Given the description of an element on the screen output the (x, y) to click on. 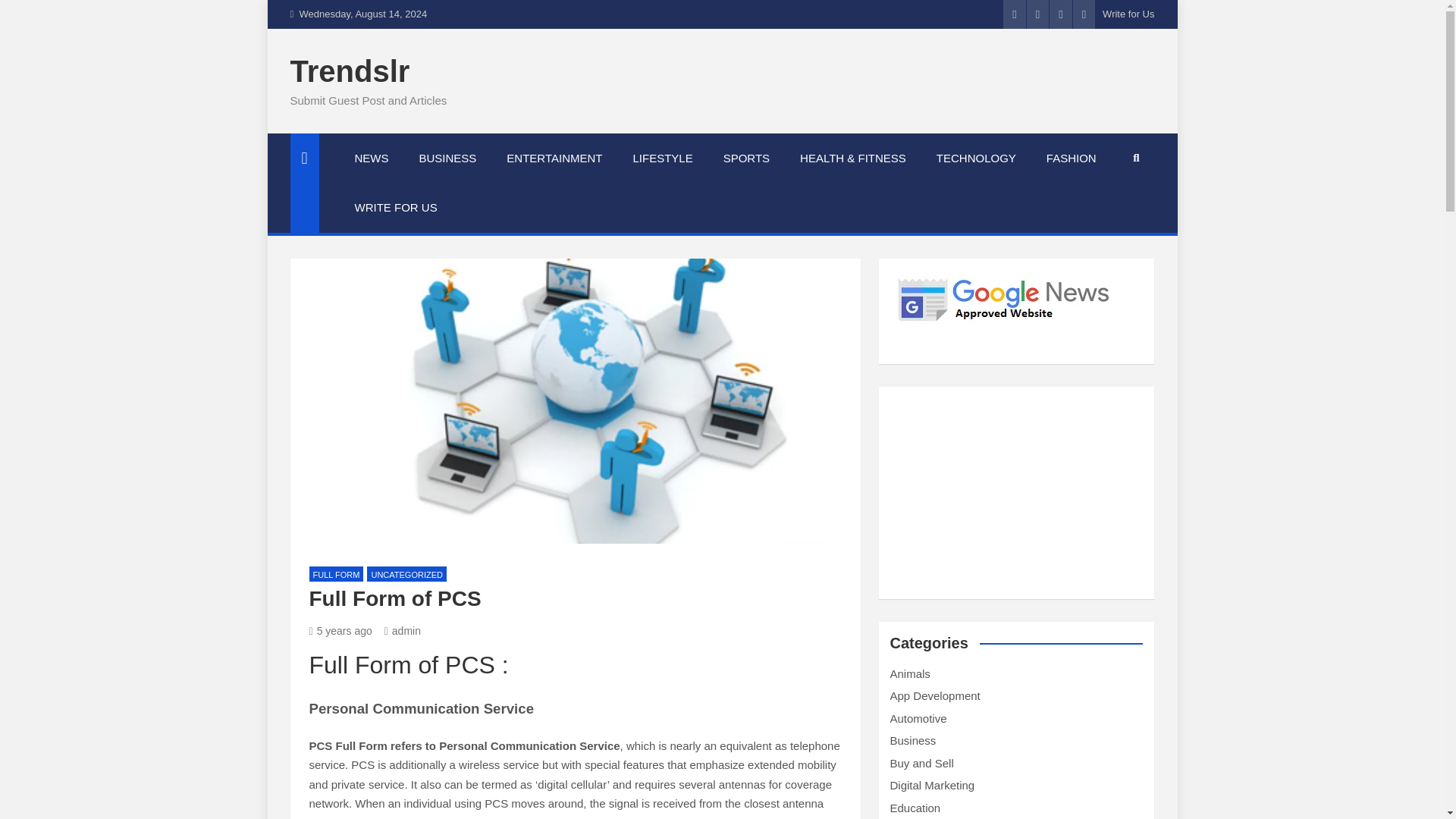
Write for Us (1128, 13)
BUSINESS (447, 158)
NEWS (371, 158)
Trendslr (349, 70)
FASHION (1071, 158)
admin (402, 630)
Full Form of PCS (340, 630)
ENTERTAINMENT (554, 158)
LIFESTYLE (662, 158)
WRITE FOR US (395, 207)
